Given the description of an element on the screen output the (x, y) to click on. 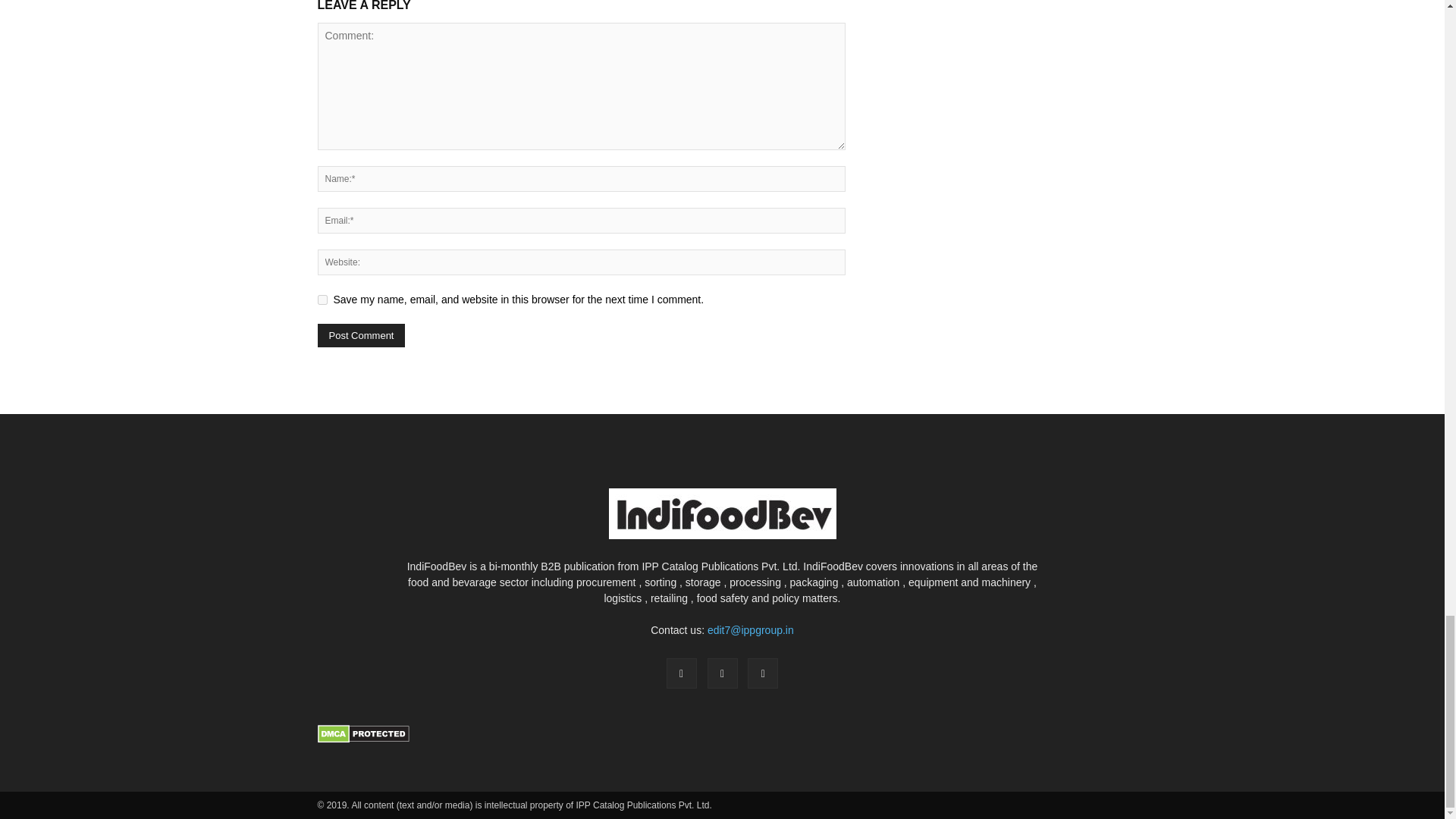
yes (321, 299)
Post Comment (360, 335)
